Given the description of an element on the screen output the (x, y) to click on. 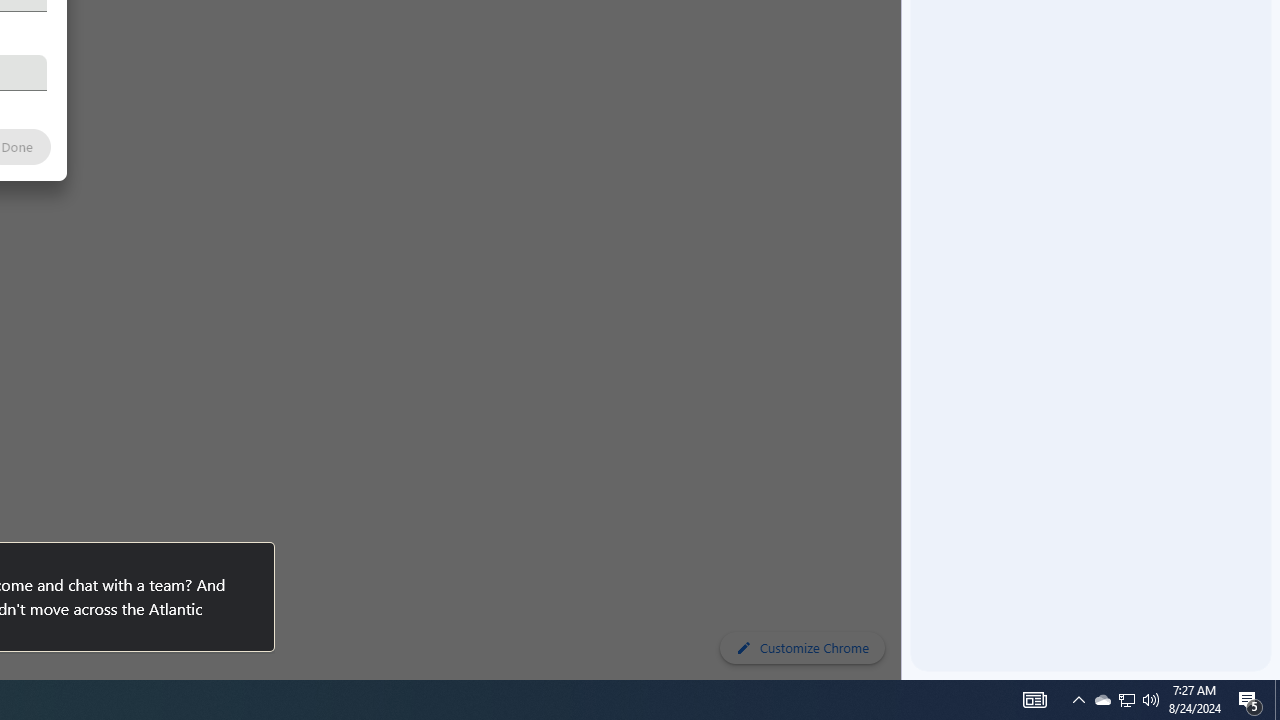
Side Panel Resize Handle (905, 39)
